Given the description of an element on the screen output the (x, y) to click on. 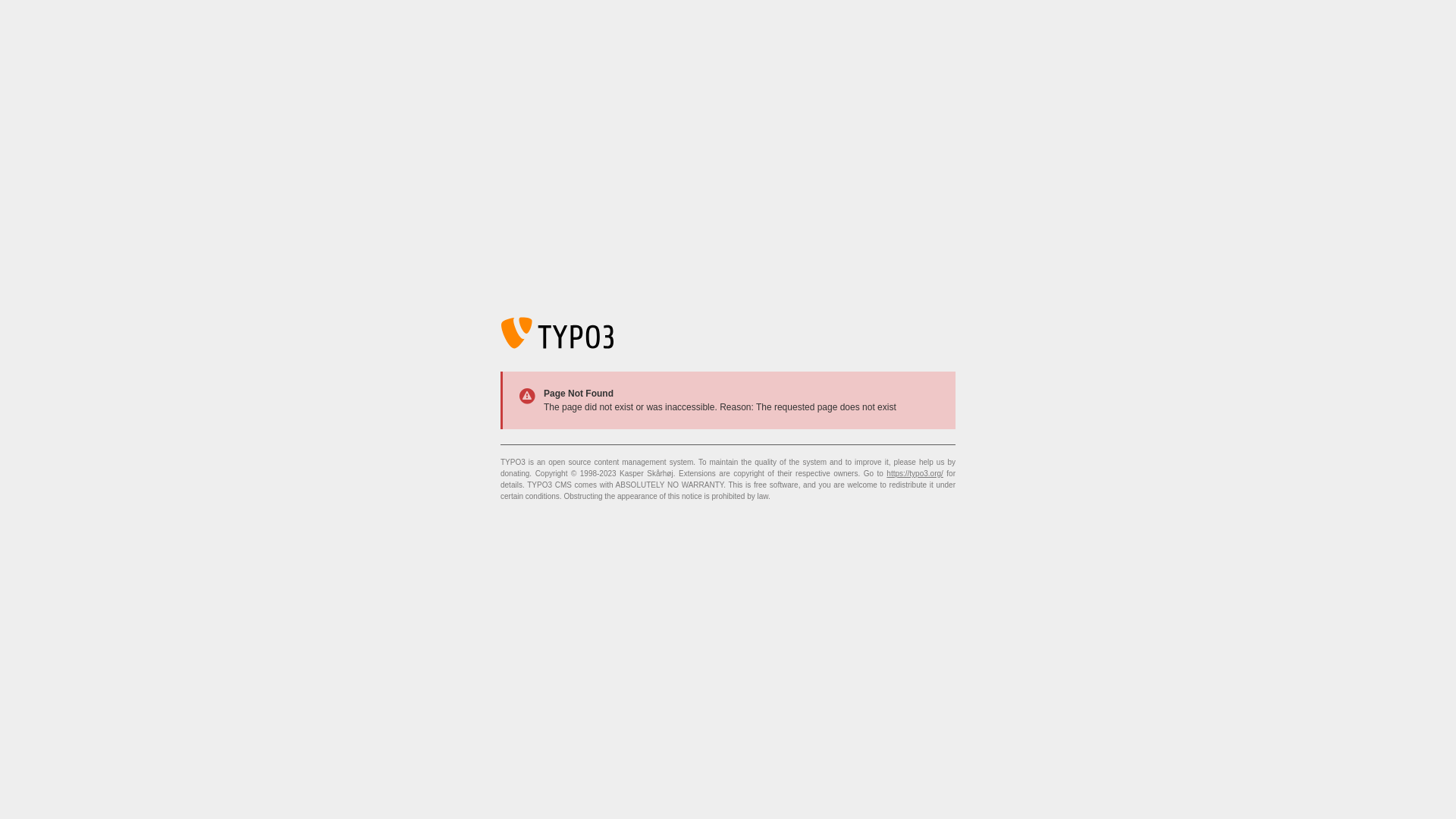
https://typo3.org/ Element type: text (914, 473)
